Given the description of an element on the screen output the (x, y) to click on. 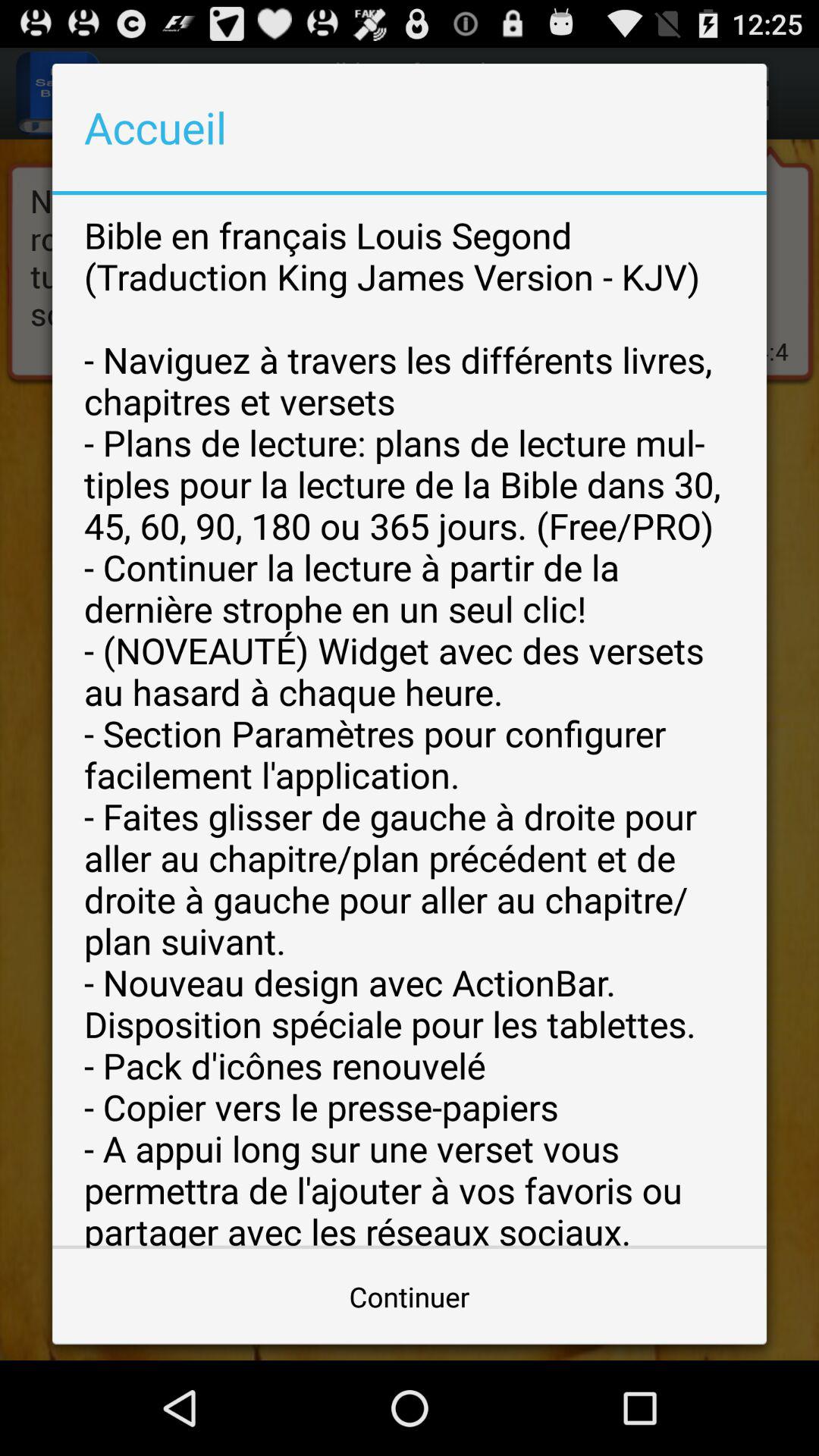
turn off the item at the bottom (409, 1296)
